Given the description of an element on the screen output the (x, y) to click on. 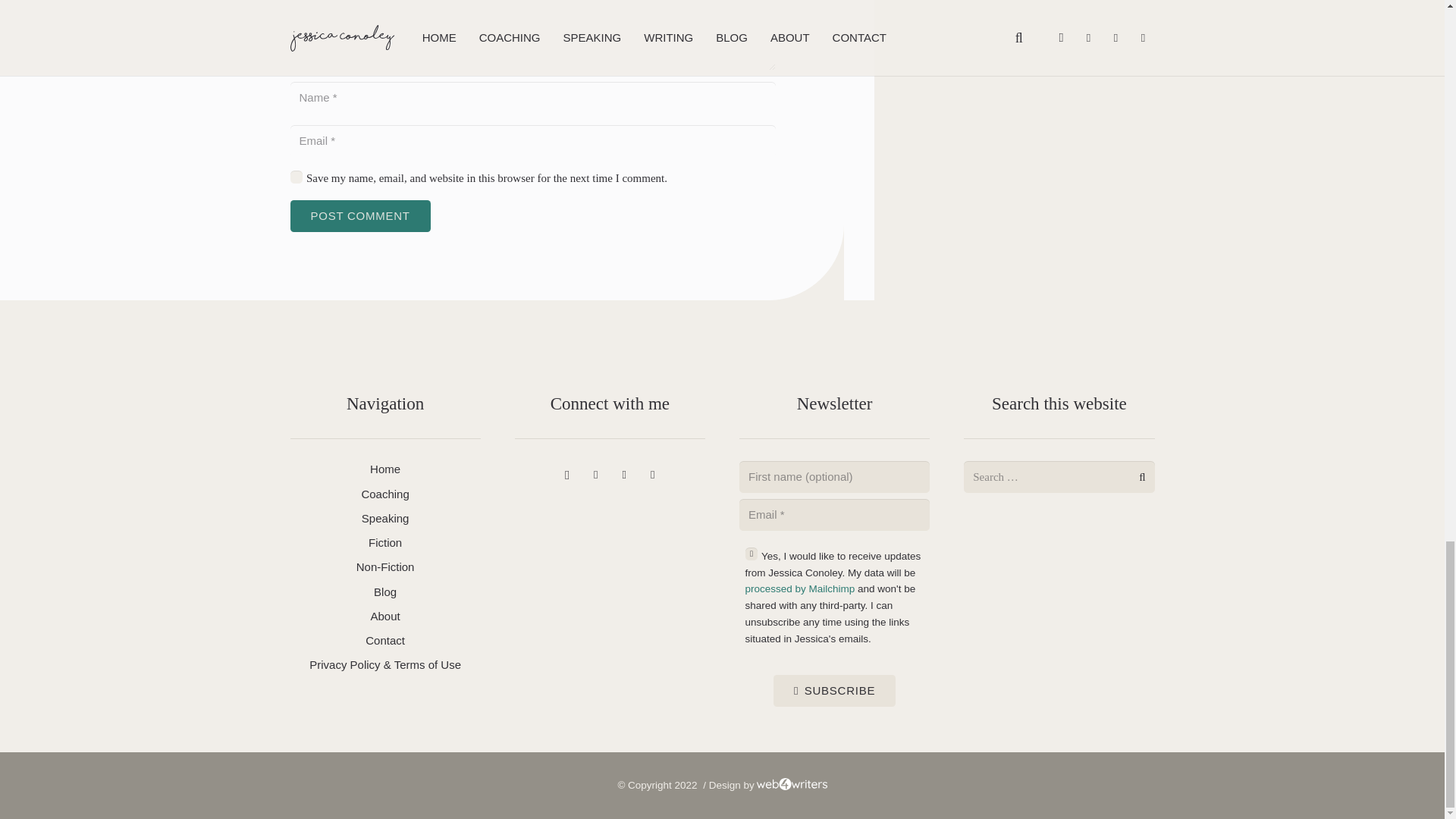
yes (767, 553)
POST COMMENT (359, 215)
Title (624, 475)
Instagram (566, 475)
1 (295, 176)
Title (652, 475)
LinkedIn (595, 475)
